Given the description of an element on the screen output the (x, y) to click on. 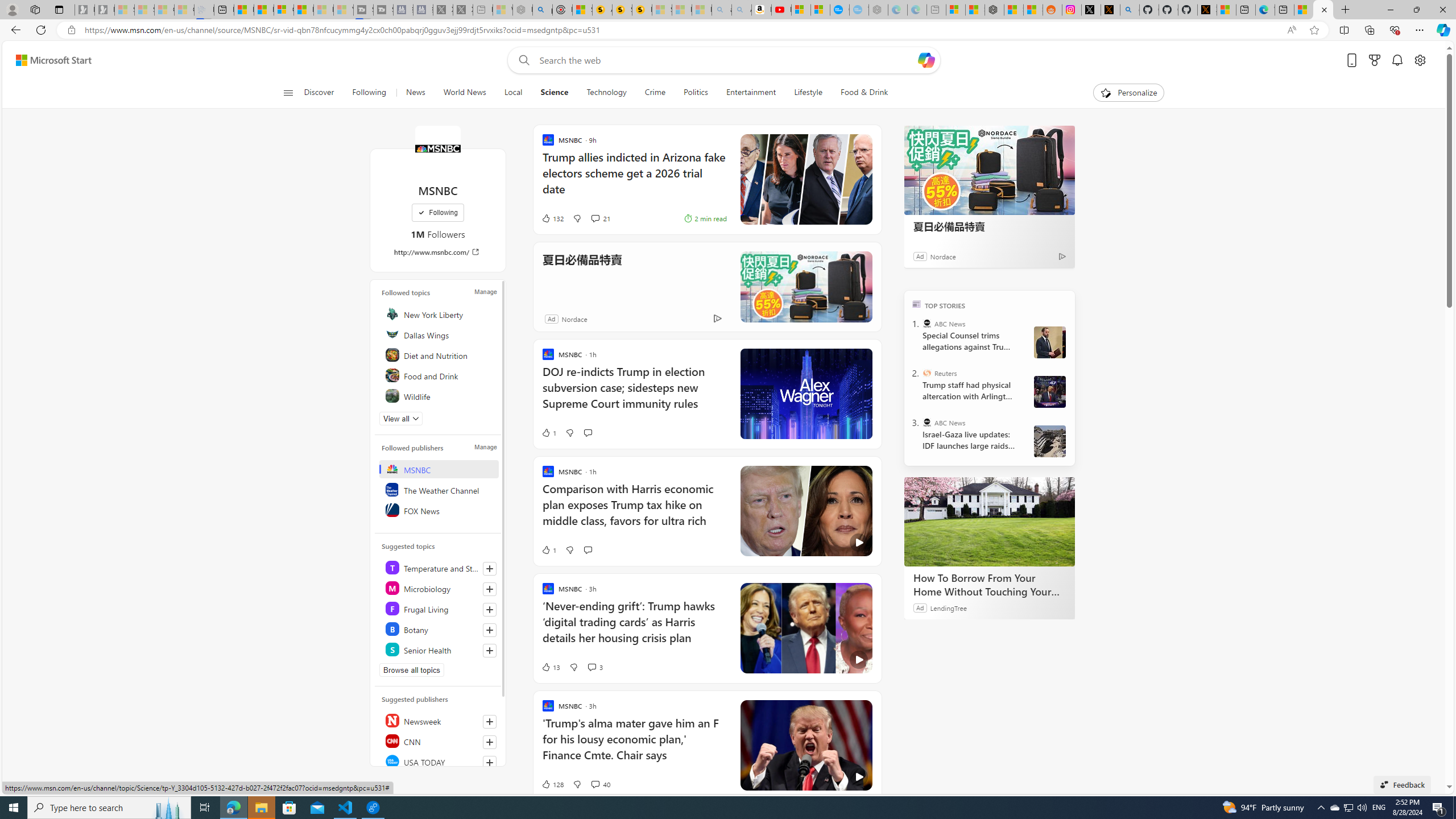
CNN (439, 741)
Lifestyle (807, 92)
Newsletter Sign Up - Sleeping (104, 9)
http://www.msnbc.com/ (438, 251)
Overview (283, 9)
